Given the description of an element on the screen output the (x, y) to click on. 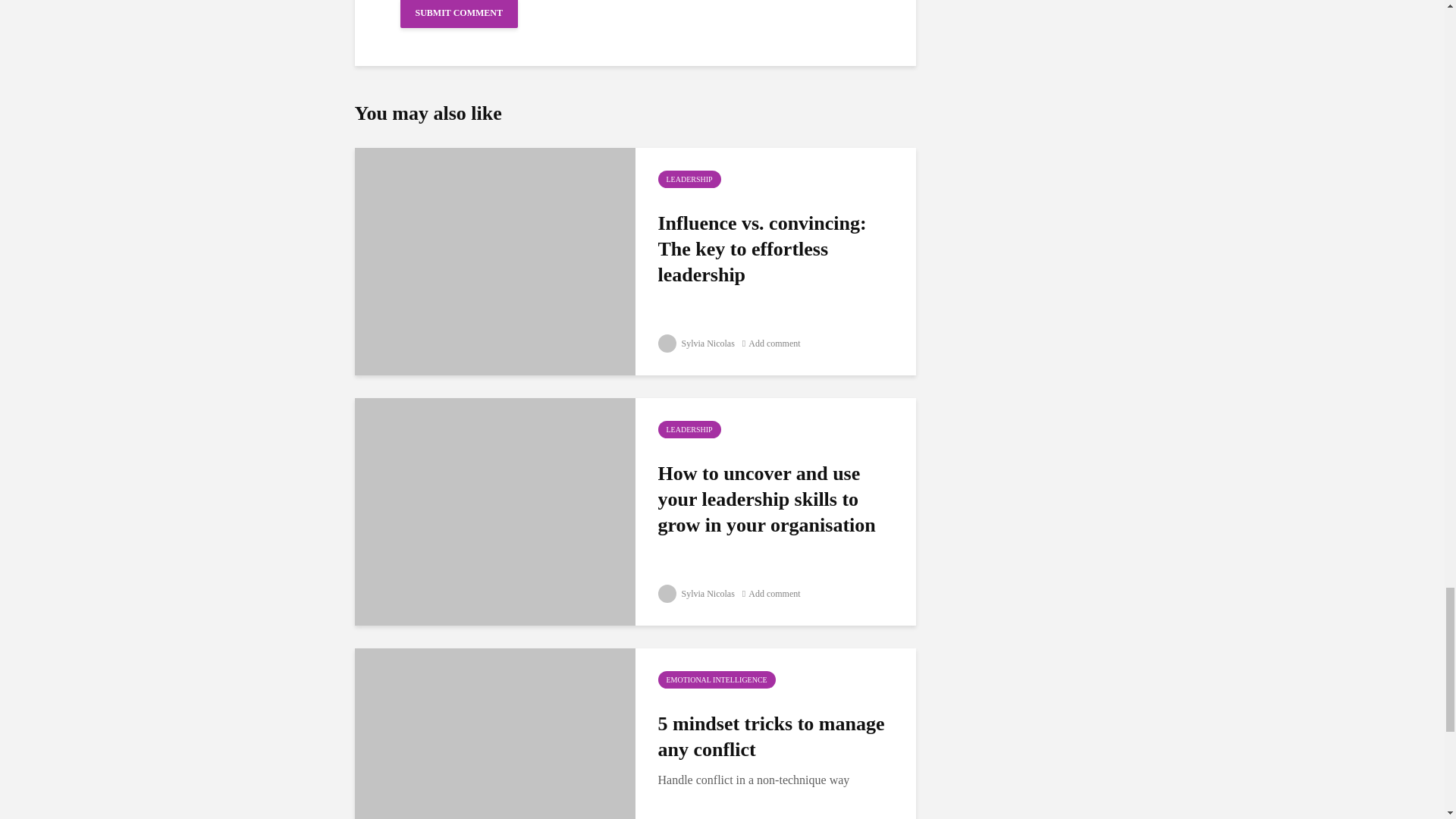
Submit Comment (459, 13)
LEADERSHIP (689, 179)
LEADERSHIP (689, 429)
Influence vs. convincing: The key to effortless leadership (494, 259)
Add comment (771, 343)
5 mindset tricks to manage any conflict (494, 759)
Influence vs. convincing: The key to effortless leadership (778, 249)
Submit Comment (459, 13)
Sylvia Nicolas (696, 343)
